Given the description of an element on the screen output the (x, y) to click on. 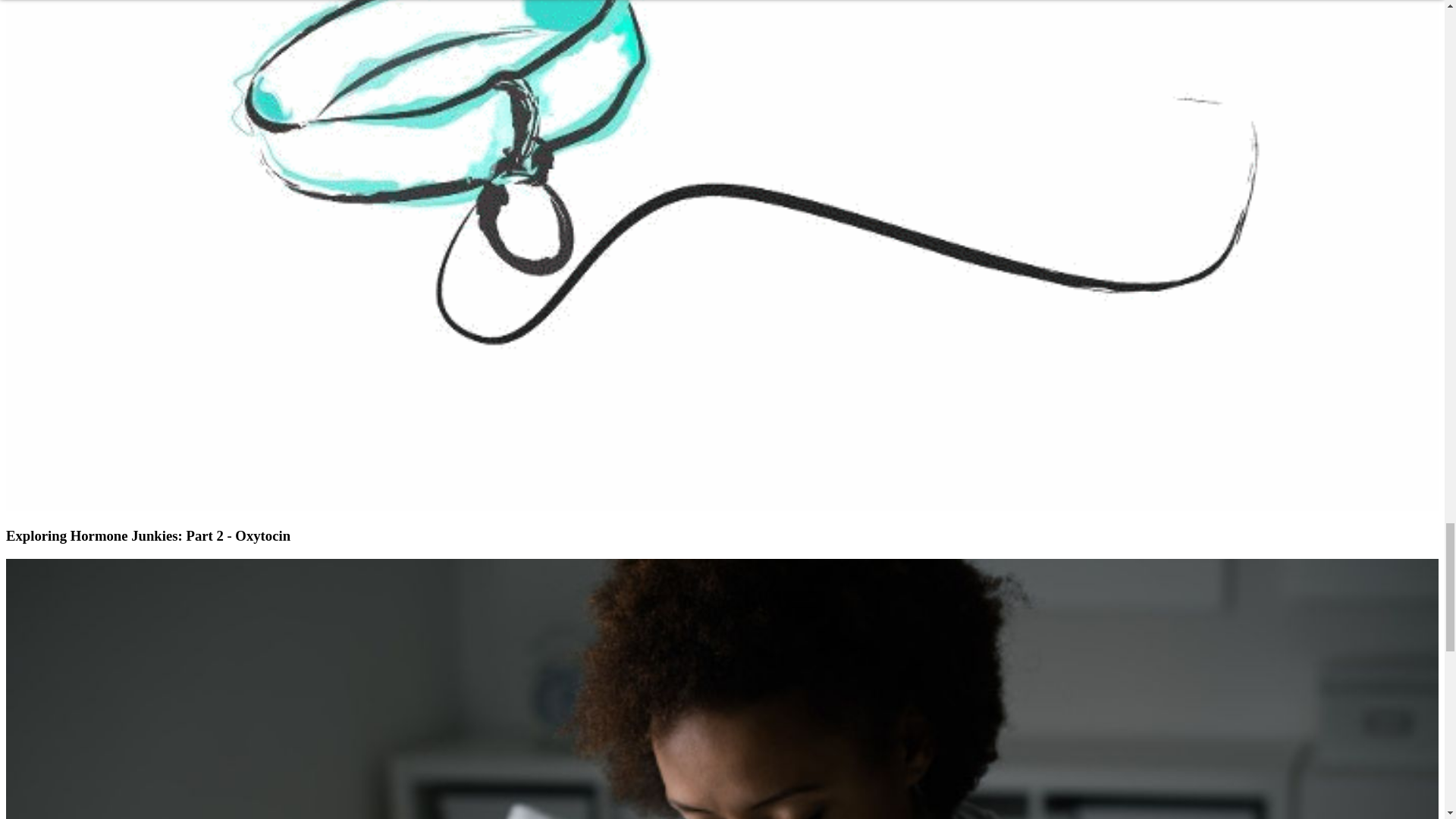
Exploring Hormone Junkies: Part 2 - Oxytocin (147, 535)
